Given the description of an element on the screen output the (x, y) to click on. 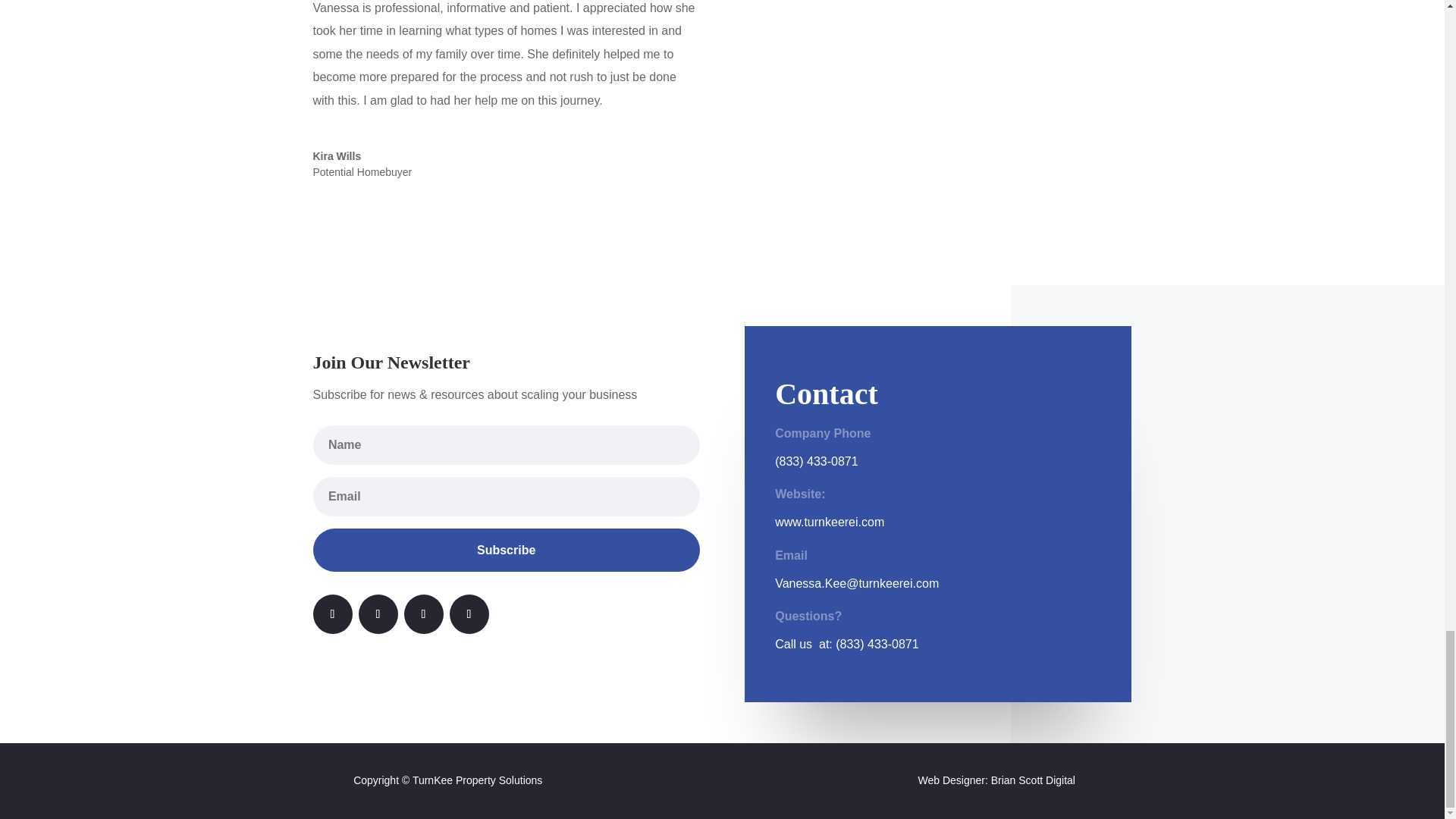
Follow on Facebook (332, 613)
Follow on LinkedIn (377, 613)
Brian Scott Digital (1033, 779)
Subscribe (505, 549)
Follow on Instagram (467, 613)
Follow on Youtube (422, 613)
www.turnkeerei.com (828, 521)
